Given the description of an element on the screen output the (x, y) to click on. 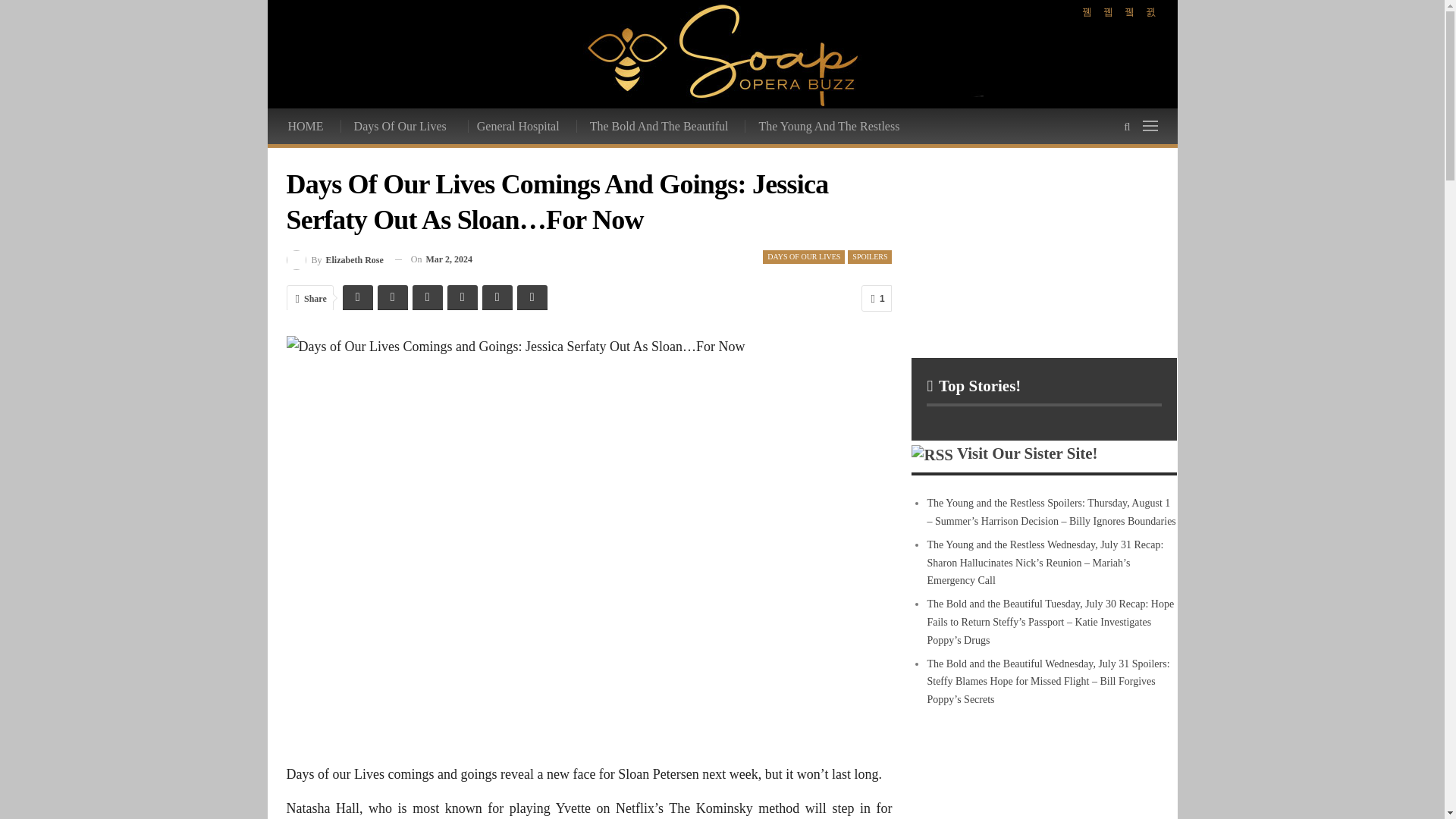
General Hospital (518, 126)
The Bold And The Beautiful (660, 126)
HOME (306, 126)
1 (876, 298)
By Elizabeth Rose (335, 259)
DAYS OF OUR LIVES (803, 256)
Browse Author Articles (335, 259)
SPOILERS (869, 256)
Days Of Our Lives (401, 126)
The Young And The Restless (829, 126)
